Given the description of an element on the screen output the (x, y) to click on. 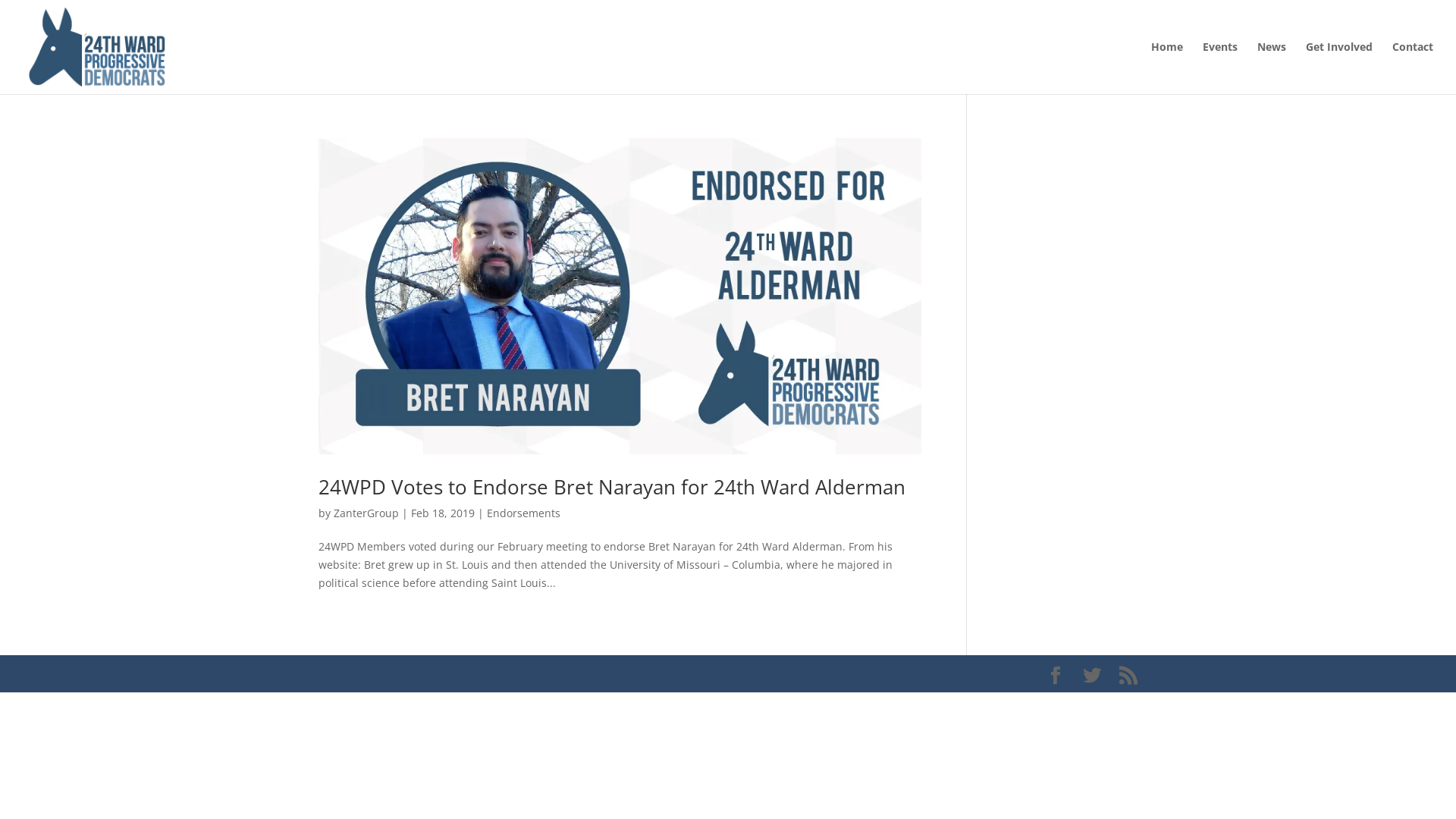
Contact Element type: text (1412, 67)
News Element type: text (1271, 67)
ZanterGroup Element type: text (365, 512)
Events Element type: text (1219, 67)
Get Involved Element type: text (1338, 67)
Home Element type: text (1167, 67)
24WPD Votes to Endorse Bret Narayan for 24th Ward Alderman Element type: text (611, 486)
Endorsements Element type: text (523, 512)
